Given the description of an element on the screen output the (x, y) to click on. 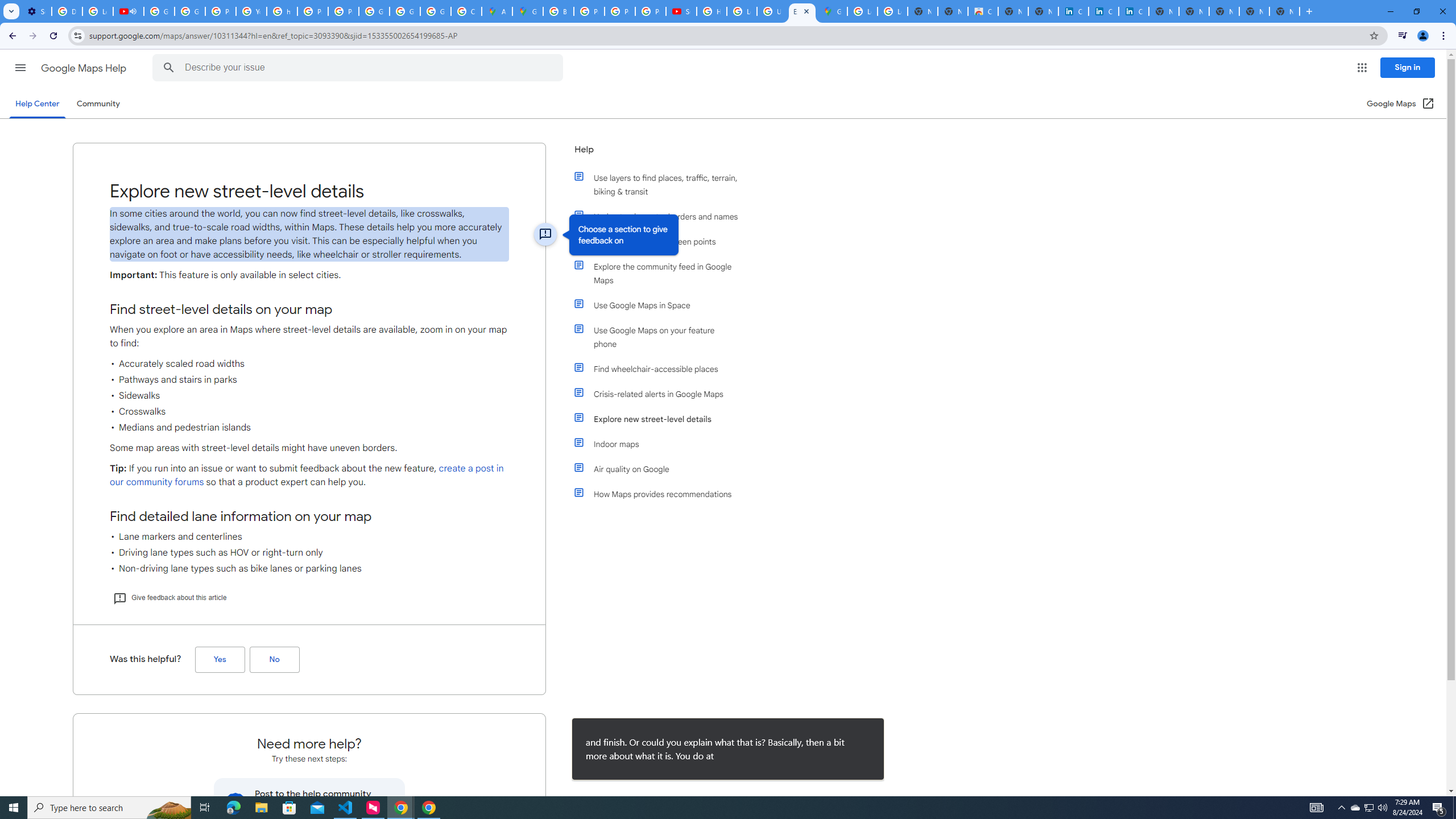
How Chrome protects your passwords - Google Chrome Help (711, 11)
Driving lane types such as HOV or right-turn only (309, 552)
Chrome Web Store (982, 11)
Lane markers and centerlines (309, 536)
Privacy Help Center - Policies Help (589, 11)
Subscriptions - YouTube (681, 11)
Explore new street-level details - Google Maps Help (801, 11)
Delete photos & videos - Computer - Google Photos Help (66, 11)
Find detailed lane information on your map (309, 515)
No (Was this helpful?) (273, 660)
